Given the description of an element on the screen output the (x, y) to click on. 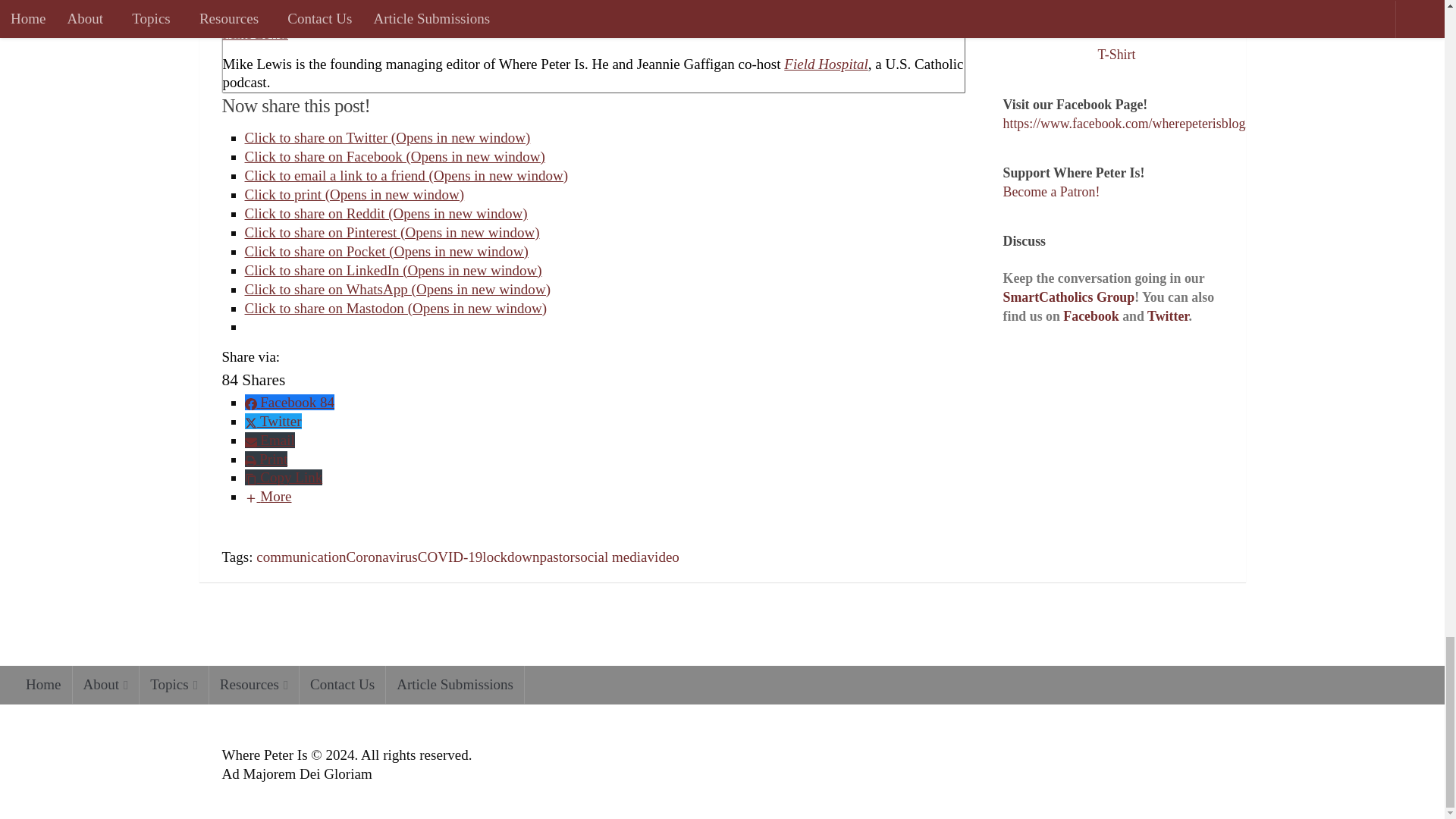
Click to print (354, 194)
Click to share on Mastodon (395, 308)
Click to share on Reddit (385, 213)
Click to share on Pinterest (391, 232)
Click to share on LinkedIn (392, 270)
Click to share on Facebook (394, 156)
Click to share on Pocket (385, 251)
Click to share on Twitter (386, 137)
Click to share on WhatsApp (397, 289)
Click to email a link to a friend (405, 175)
